Given the description of an element on the screen output the (x, y) to click on. 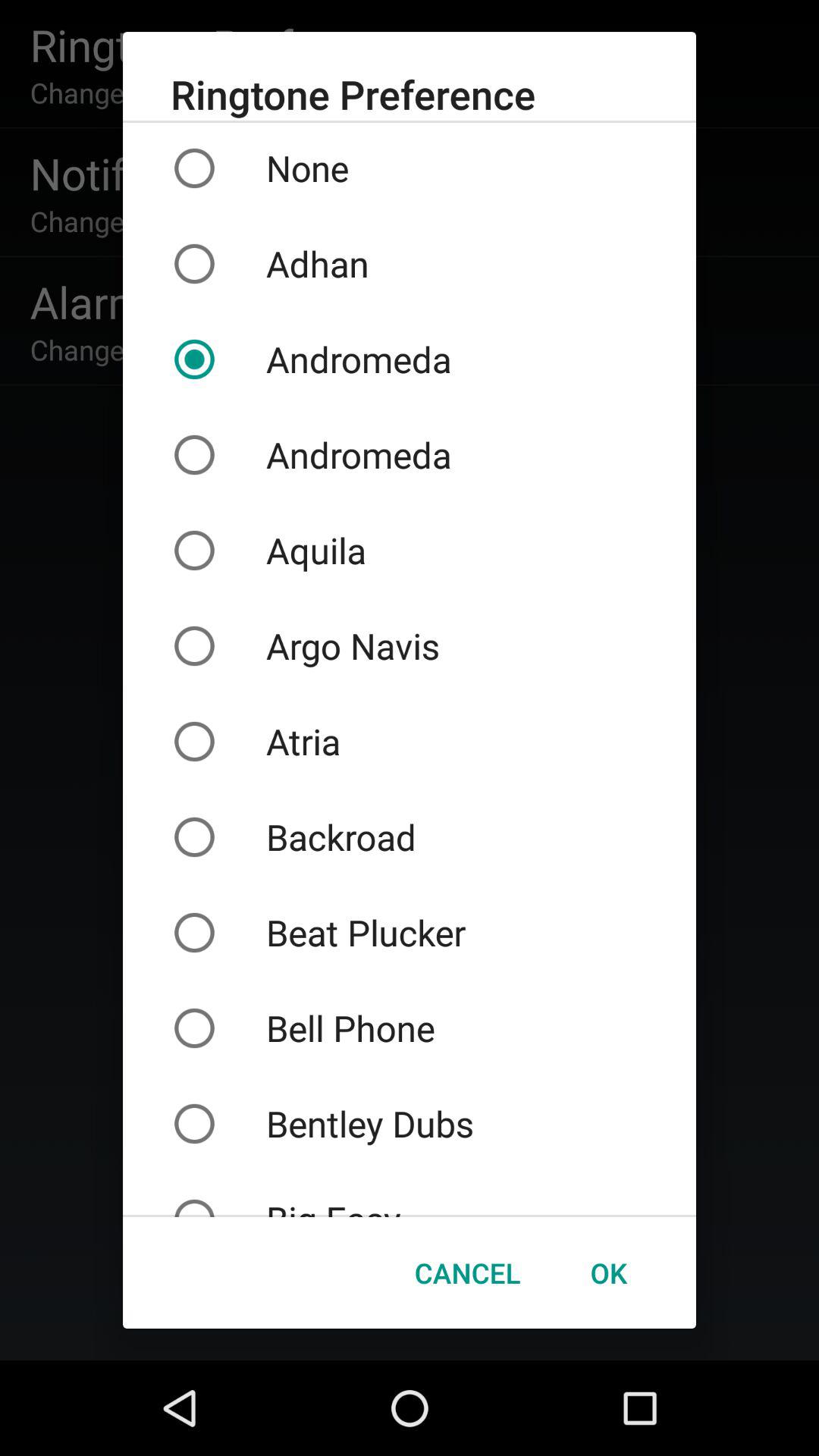
tap the item below big easy icon (608, 1272)
